Given the description of an element on the screen output the (x, y) to click on. 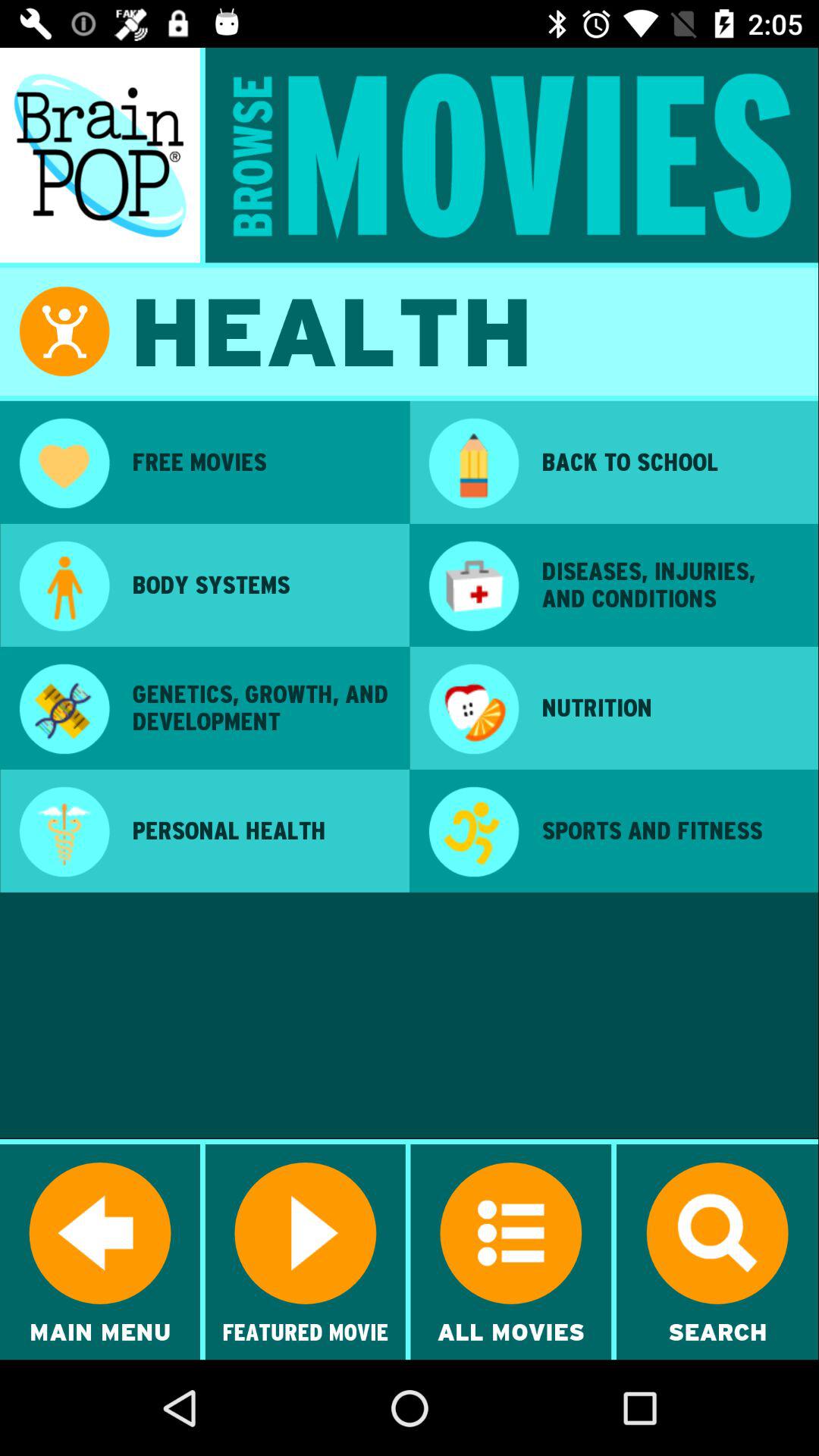
swipe until the body systems icon (260, 584)
